Given the description of an element on the screen output the (x, y) to click on. 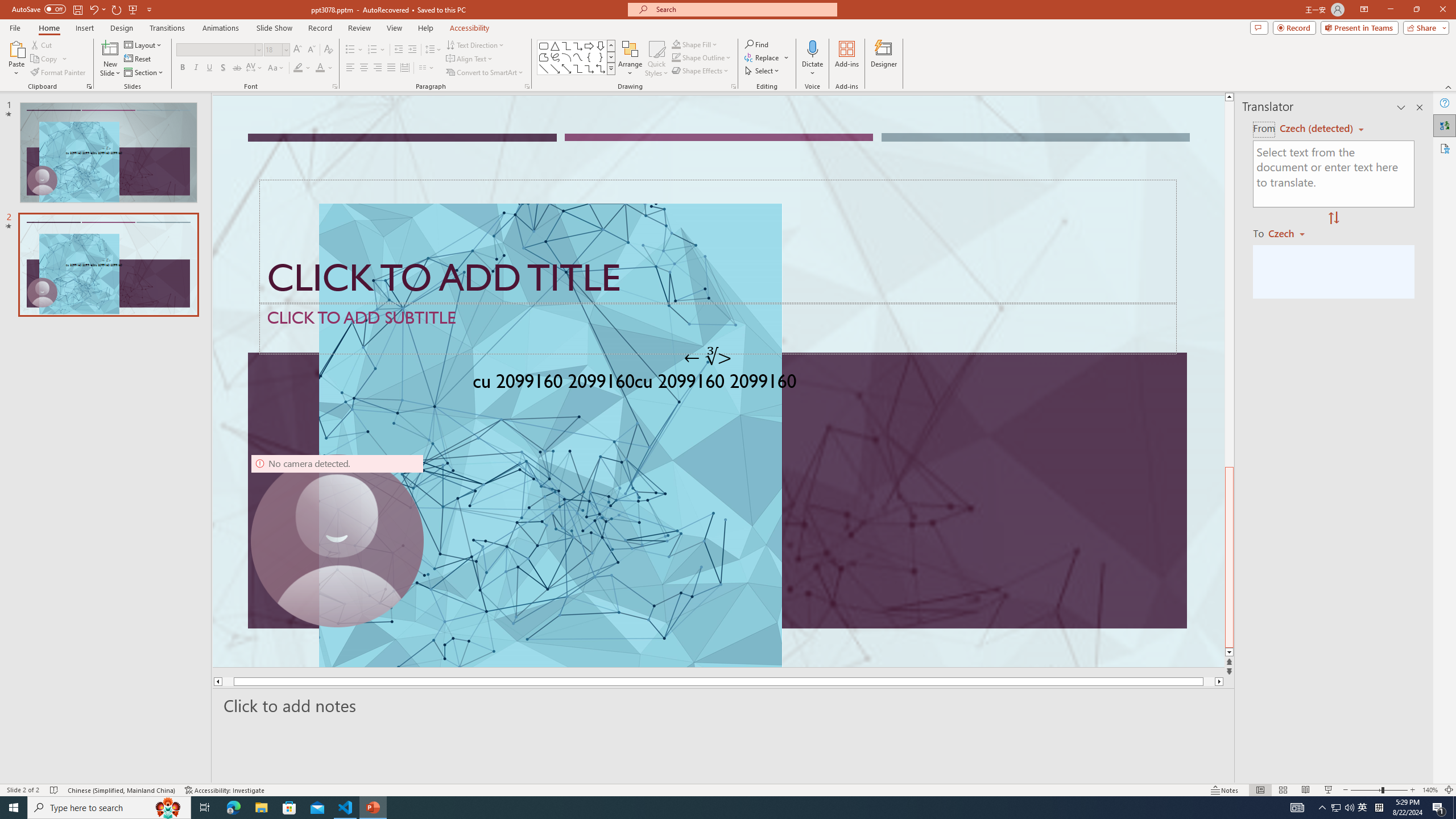
Subtitle TextBox (717, 328)
Czech (1291, 232)
